Given the description of an element on the screen output the (x, y) to click on. 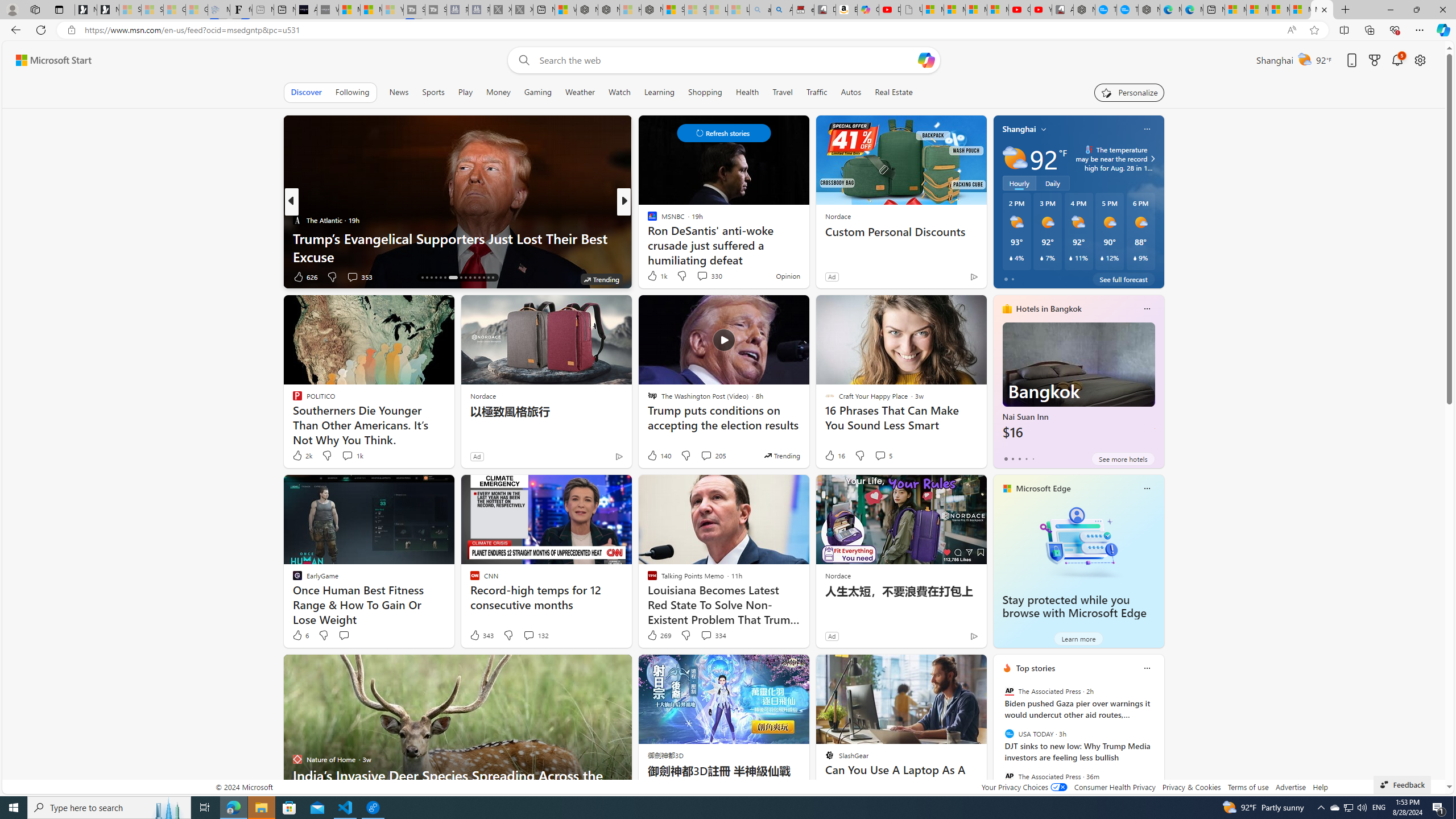
Autos (850, 92)
Real Estate (893, 92)
View comments 96 Comment (703, 276)
Discover (306, 92)
Skip to content (49, 59)
AutomationID: tab-28 (483, 277)
Gaming (537, 92)
View comments 205 Comment (712, 455)
Health (746, 92)
Nordace - Nordace Siena Is Not An Ordinary Backpack (652, 9)
Newsletter Sign Up (107, 9)
Business Insider (647, 219)
